Given the description of an element on the screen output the (x, y) to click on. 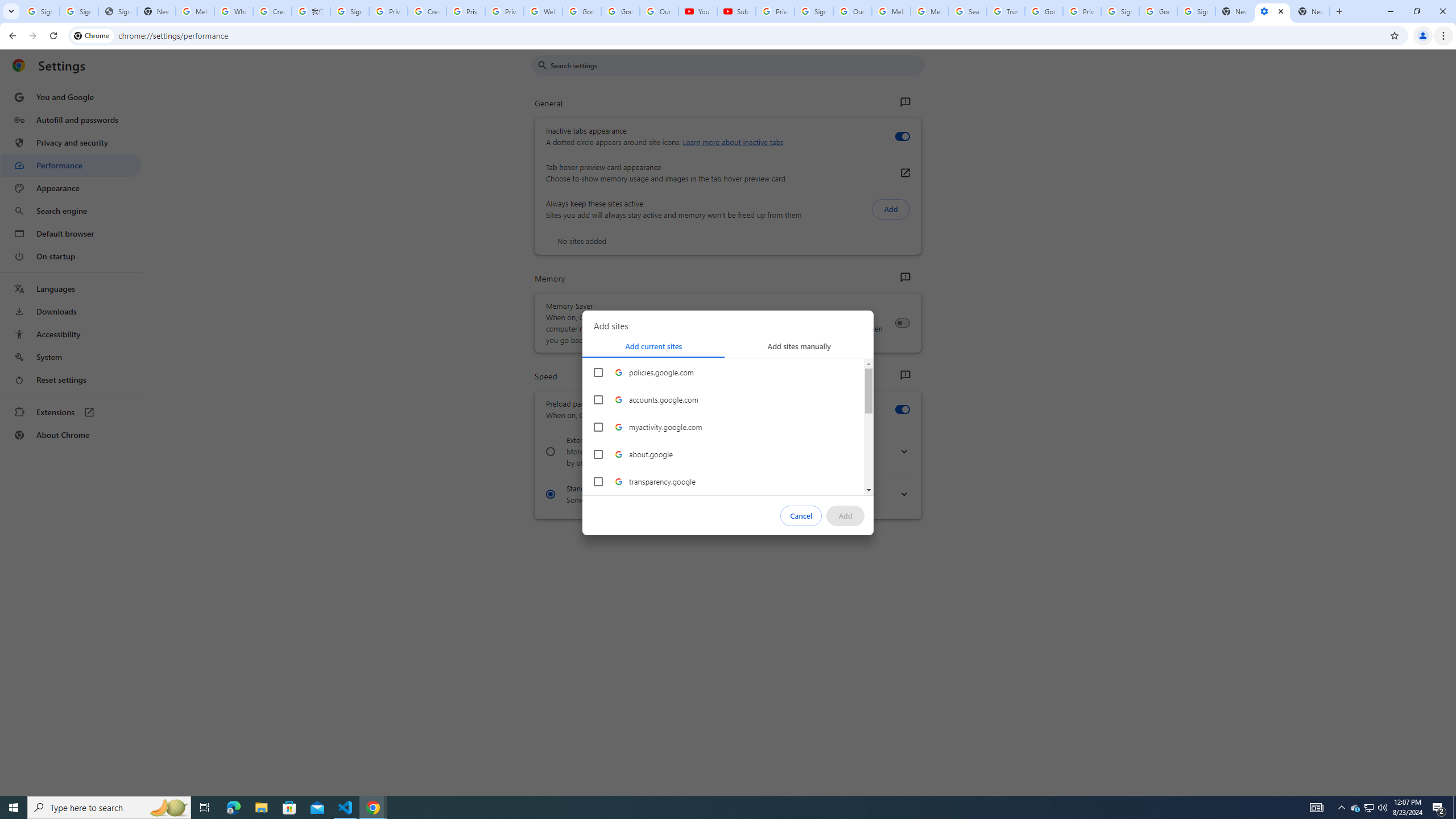
Subscriptions - YouTube (736, 11)
Add current sites (653, 345)
Sign in - Google Accounts (79, 11)
Sign in - Google Accounts (349, 11)
Sign in - Google Accounts (813, 11)
Google Account (620, 11)
Create your Google Account (272, 11)
